Given the description of an element on the screen output the (x, y) to click on. 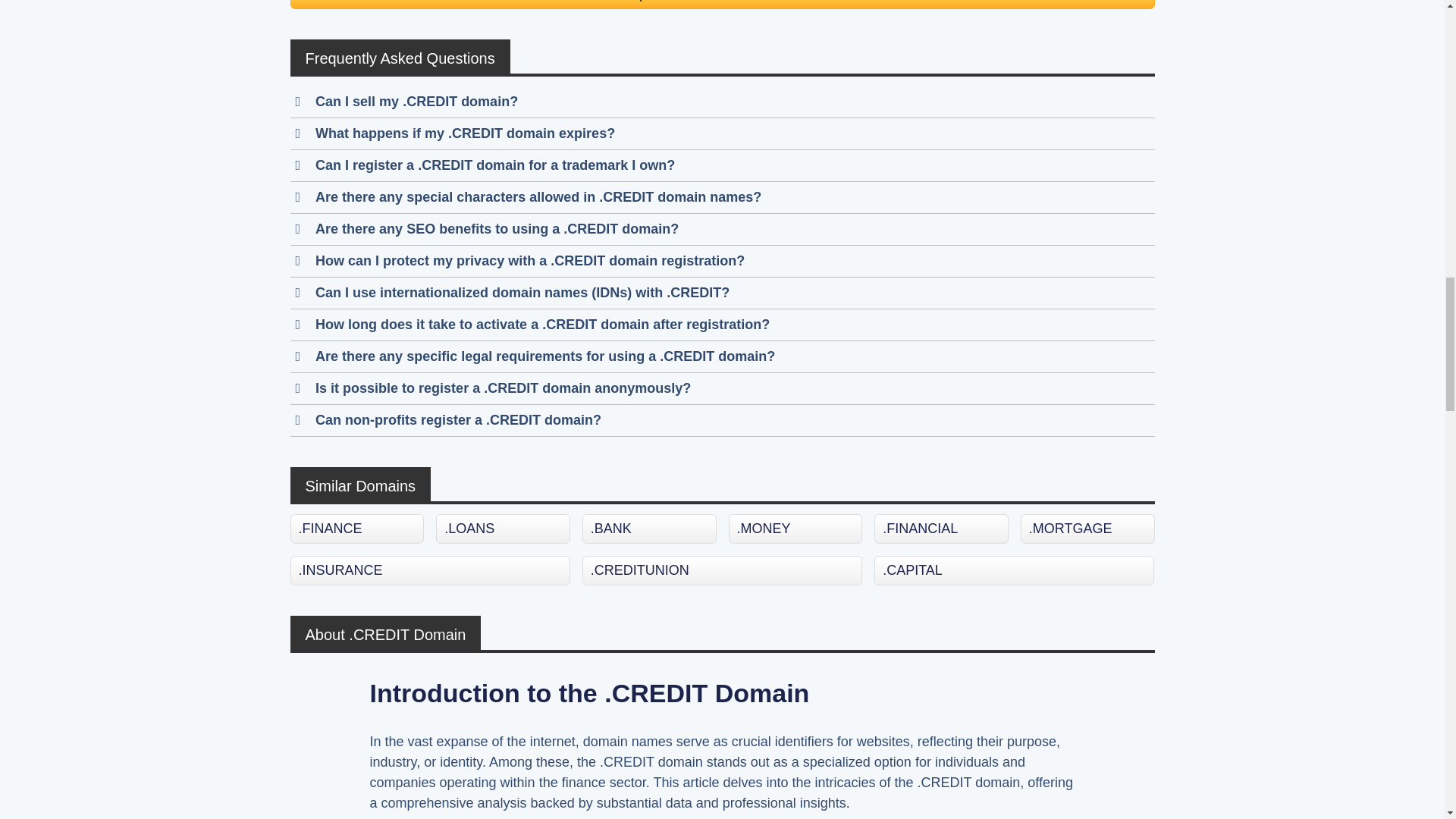
Top Websites with .CREDIT Domain (721, 4)
.MORTGAGE (1087, 528)
.BANK (649, 528)
.CREDITUNION (721, 570)
.CAPITAL (1014, 570)
.LOANS (502, 528)
.FINANCE (356, 528)
.MONEY (796, 528)
.FINANCIAL (942, 528)
.INSURANCE (429, 570)
